Given the description of an element on the screen output the (x, y) to click on. 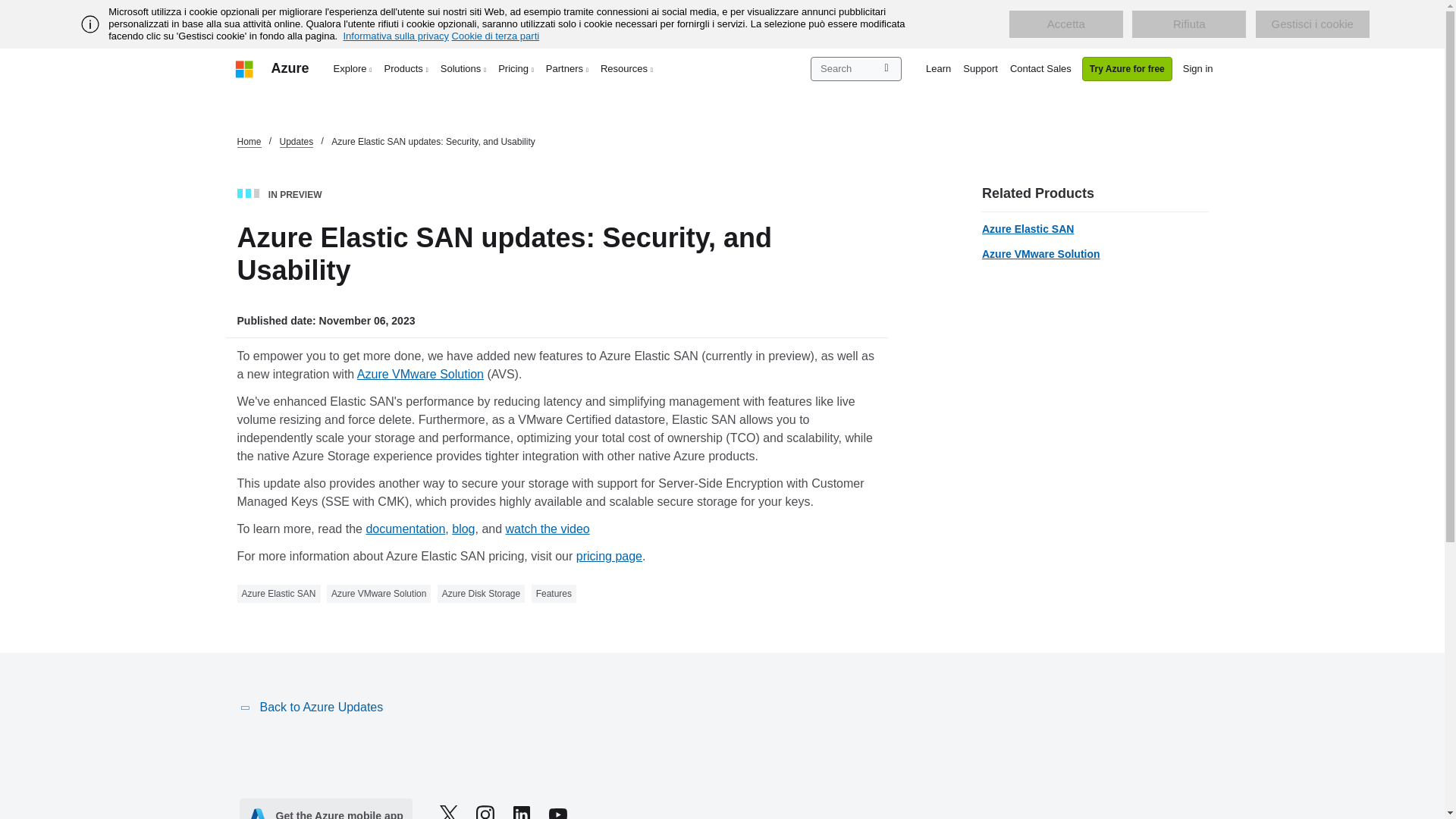
Cookie di terza parti (495, 35)
Azure (289, 68)
Skip to main content (7, 7)
Products (405, 68)
Explore (352, 68)
Gestisci i cookie (1312, 23)
Informativa sulla privacy (395, 35)
Accetta (1065, 23)
Rifiuta (1189, 23)
